Given the description of an element on the screen output the (x, y) to click on. 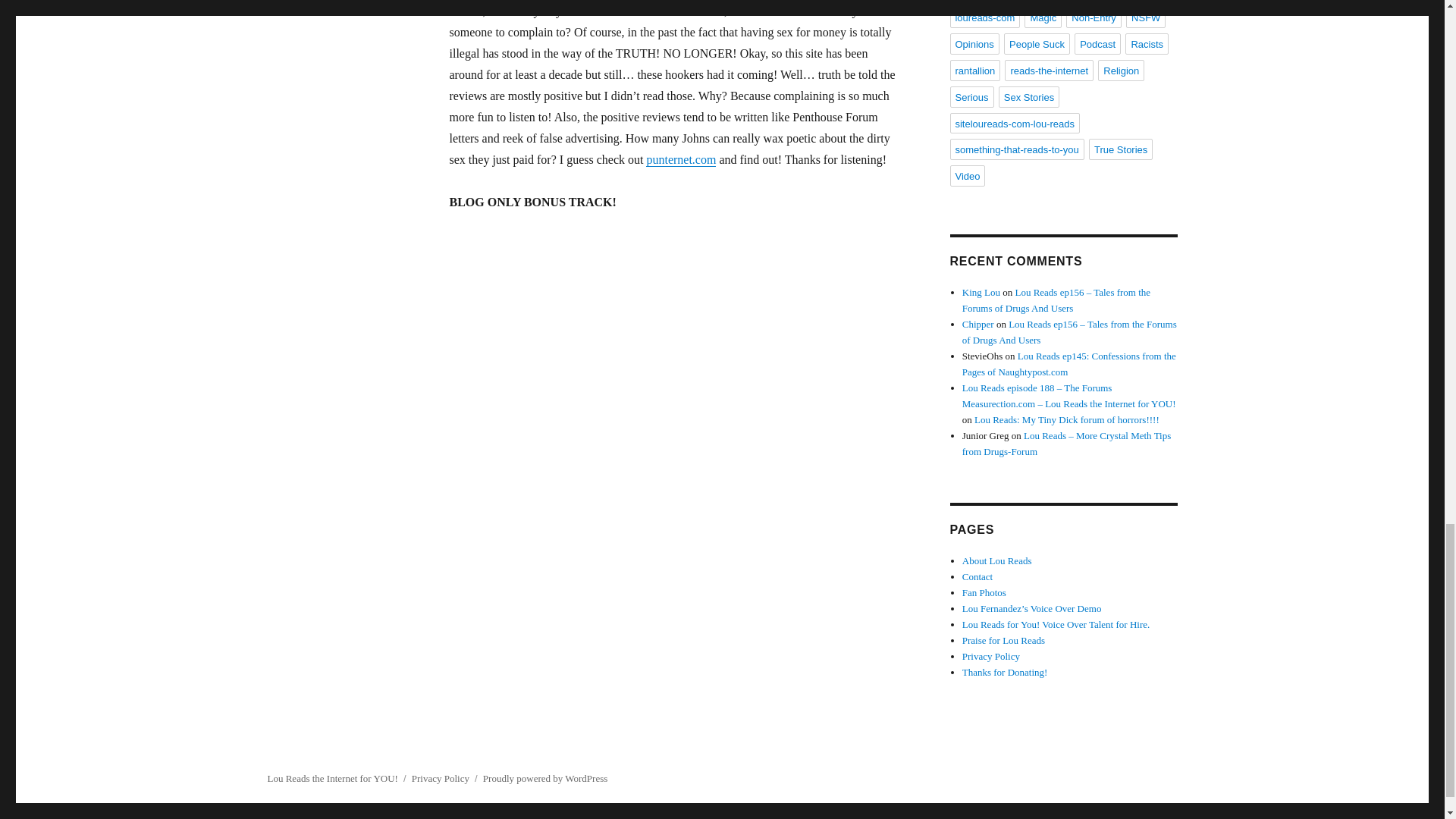
punternet.com (681, 159)
